Given the description of an element on the screen output the (x, y) to click on. 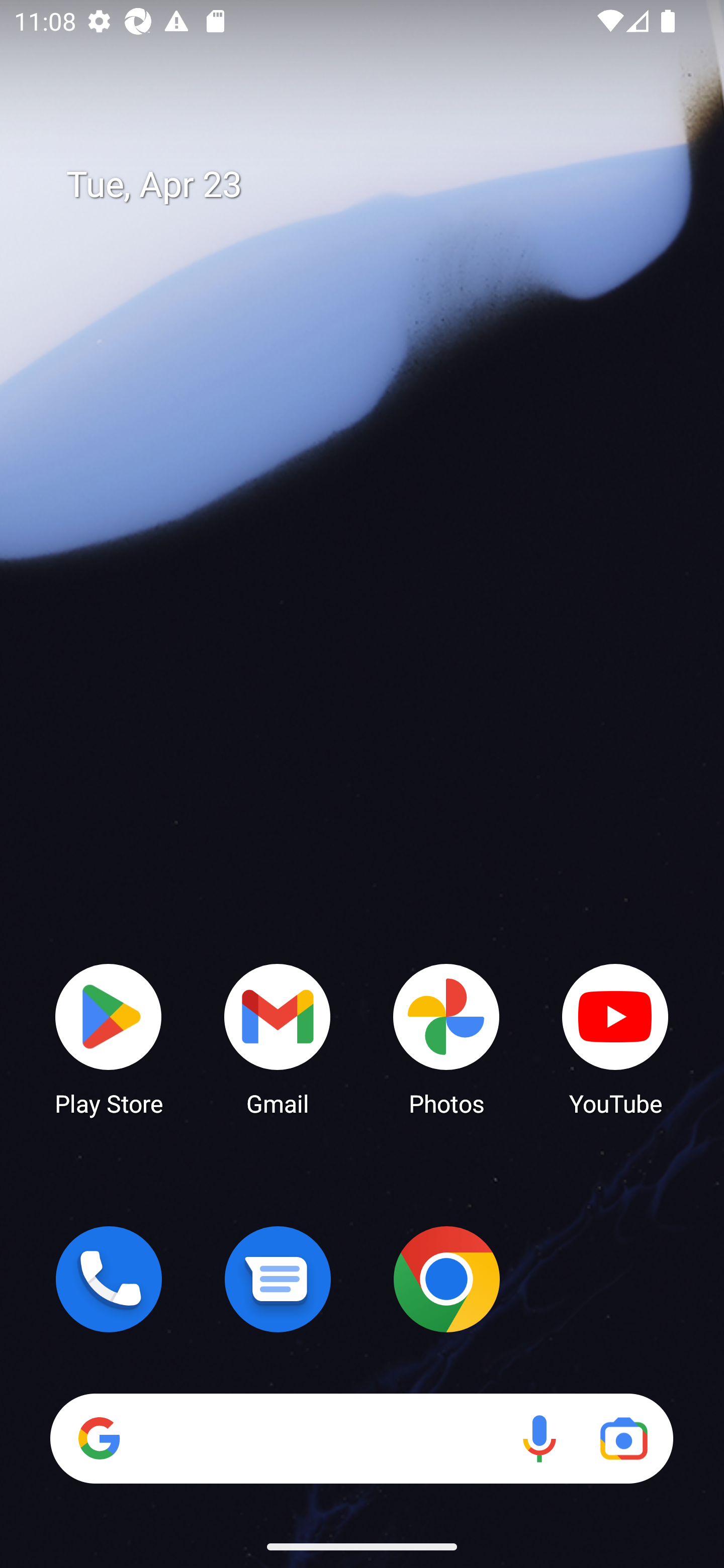
Tue, Apr 23 (375, 184)
Play Store (108, 1038)
Gmail (277, 1038)
Photos (445, 1038)
YouTube (615, 1038)
Phone (108, 1279)
Messages (277, 1279)
Chrome (446, 1279)
Search Voice search Google Lens (361, 1438)
Voice search (539, 1438)
Google Lens (623, 1438)
